Given the description of an element on the screen output the (x, y) to click on. 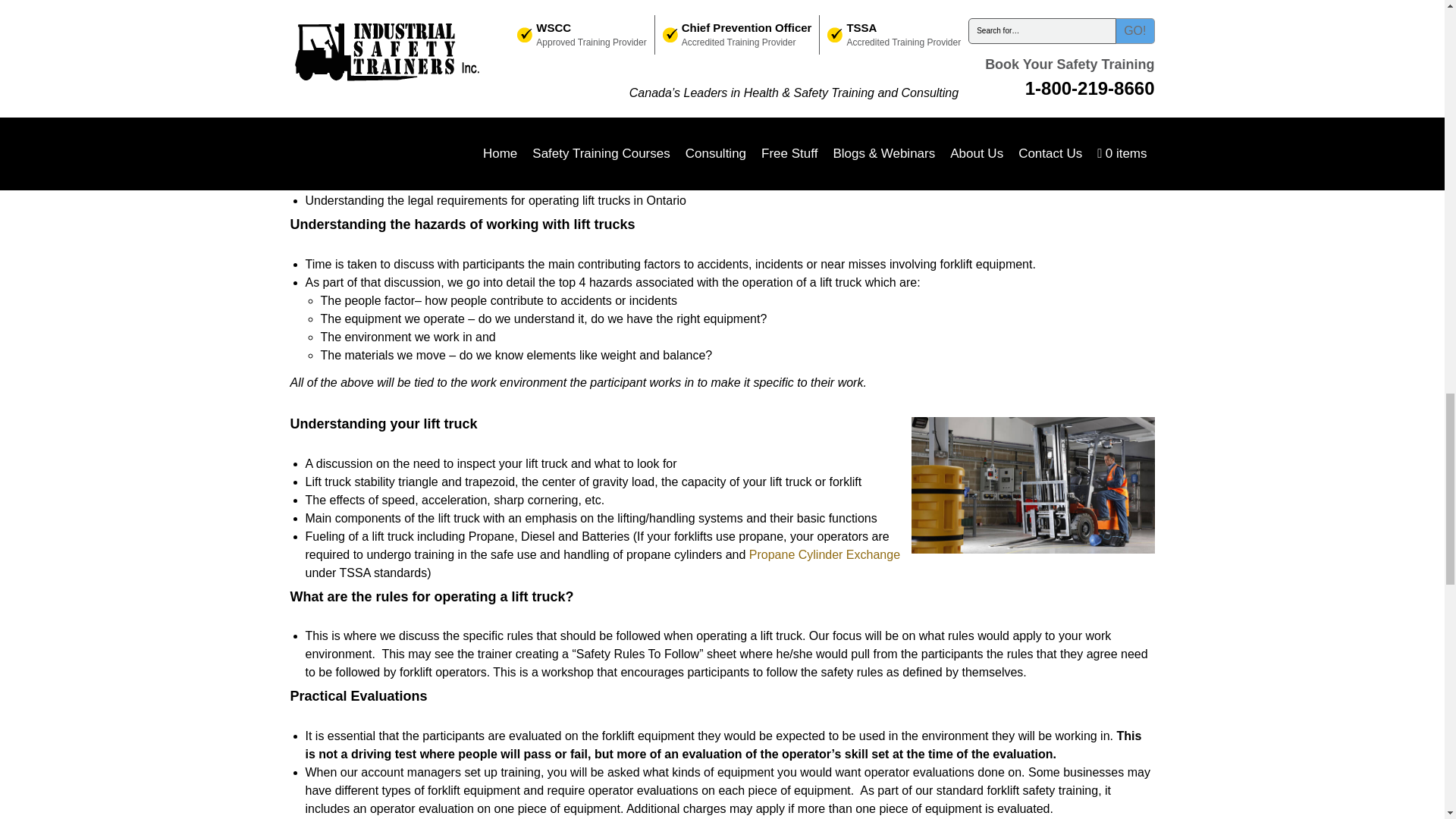
Propane Cylinder Exchange (824, 554)
